Given the description of an element on the screen output the (x, y) to click on. 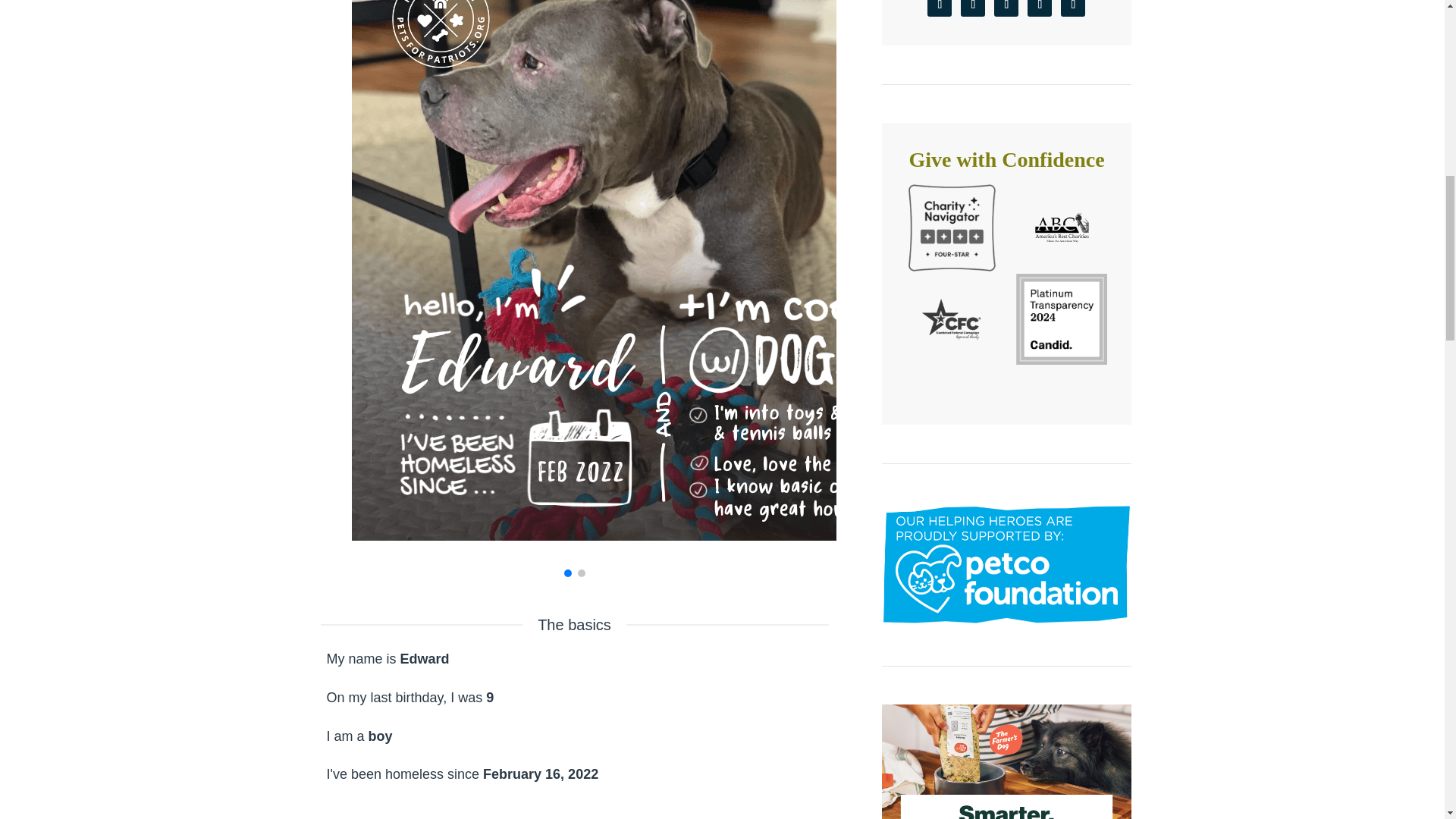
Follow on X (939, 8)
Follow on Youtube (1072, 8)
Follow on Facebook (972, 8)
Follow on Pinterest (1005, 8)
Petco Foundation Site Badge - Helping Heroes (1005, 564)
Follow on Instagram (1039, 8)
